Given the description of an element on the screen output the (x, y) to click on. 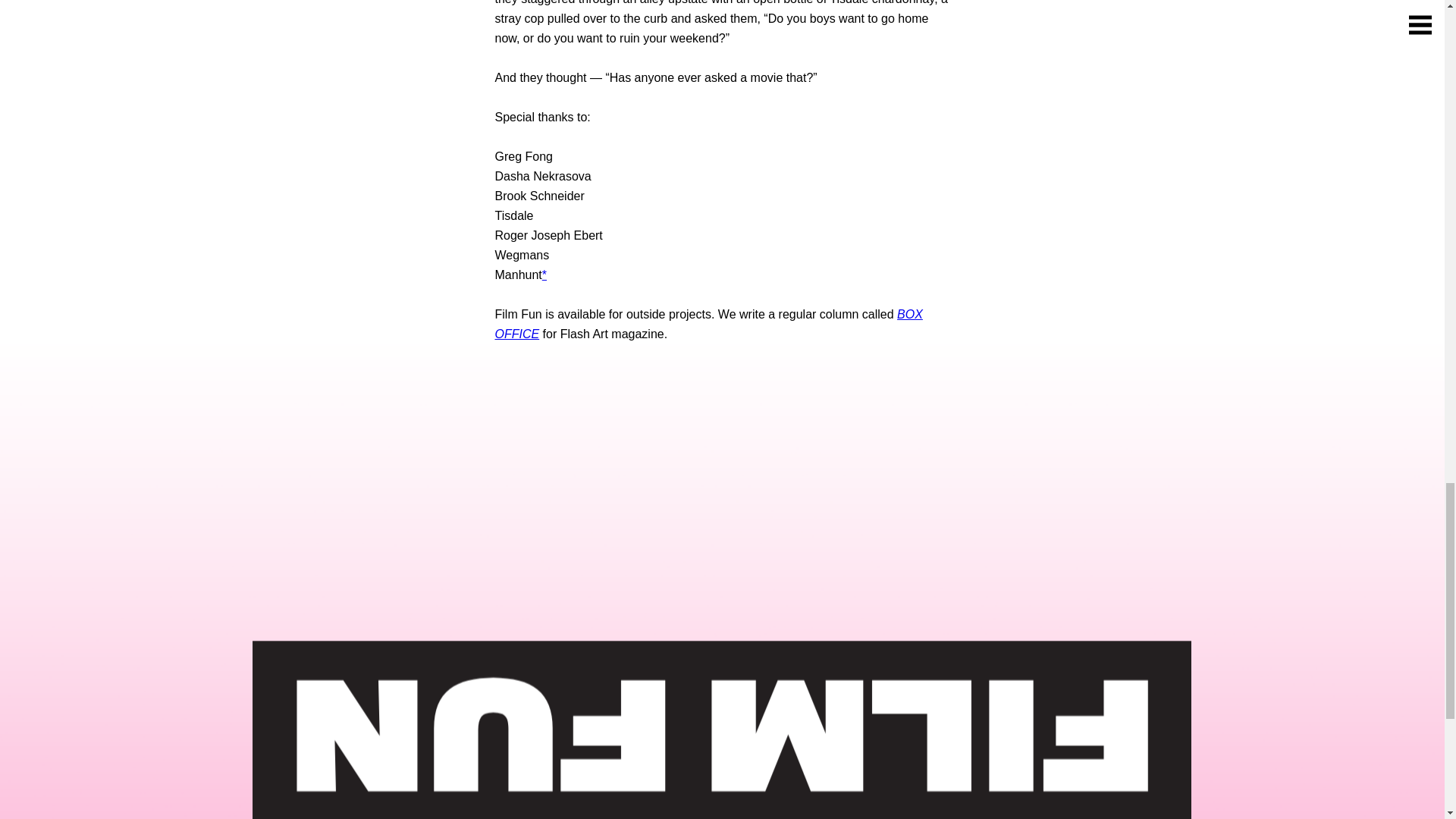
BOX OFFICE (708, 323)
